Given the description of an element on the screen output the (x, y) to click on. 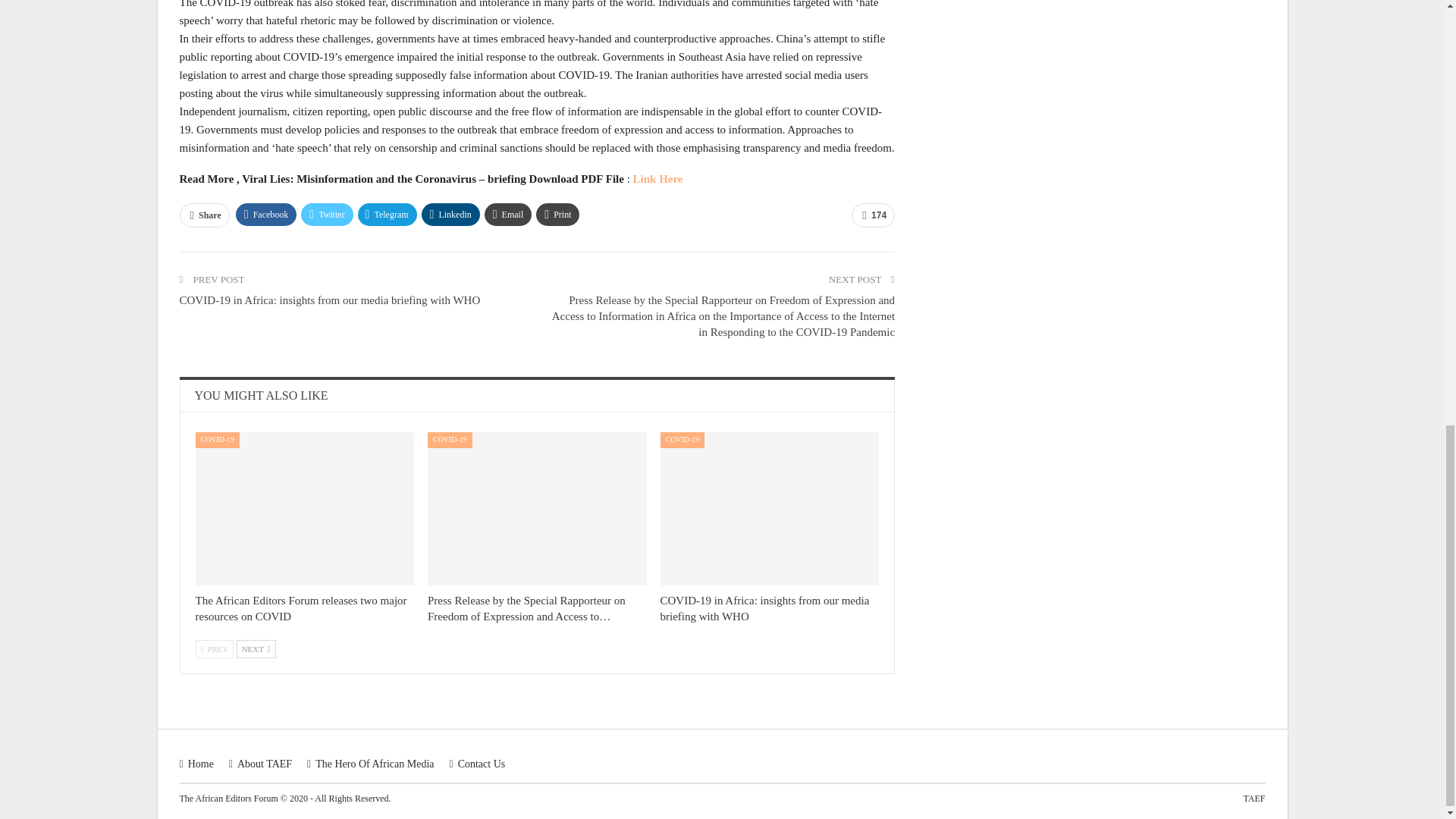
Linkedin (451, 214)
Facebook (266, 214)
Next (255, 648)
Twitter (326, 214)
Email (508, 214)
Link Here  (657, 178)
